Given the description of an element on the screen output the (x, y) to click on. 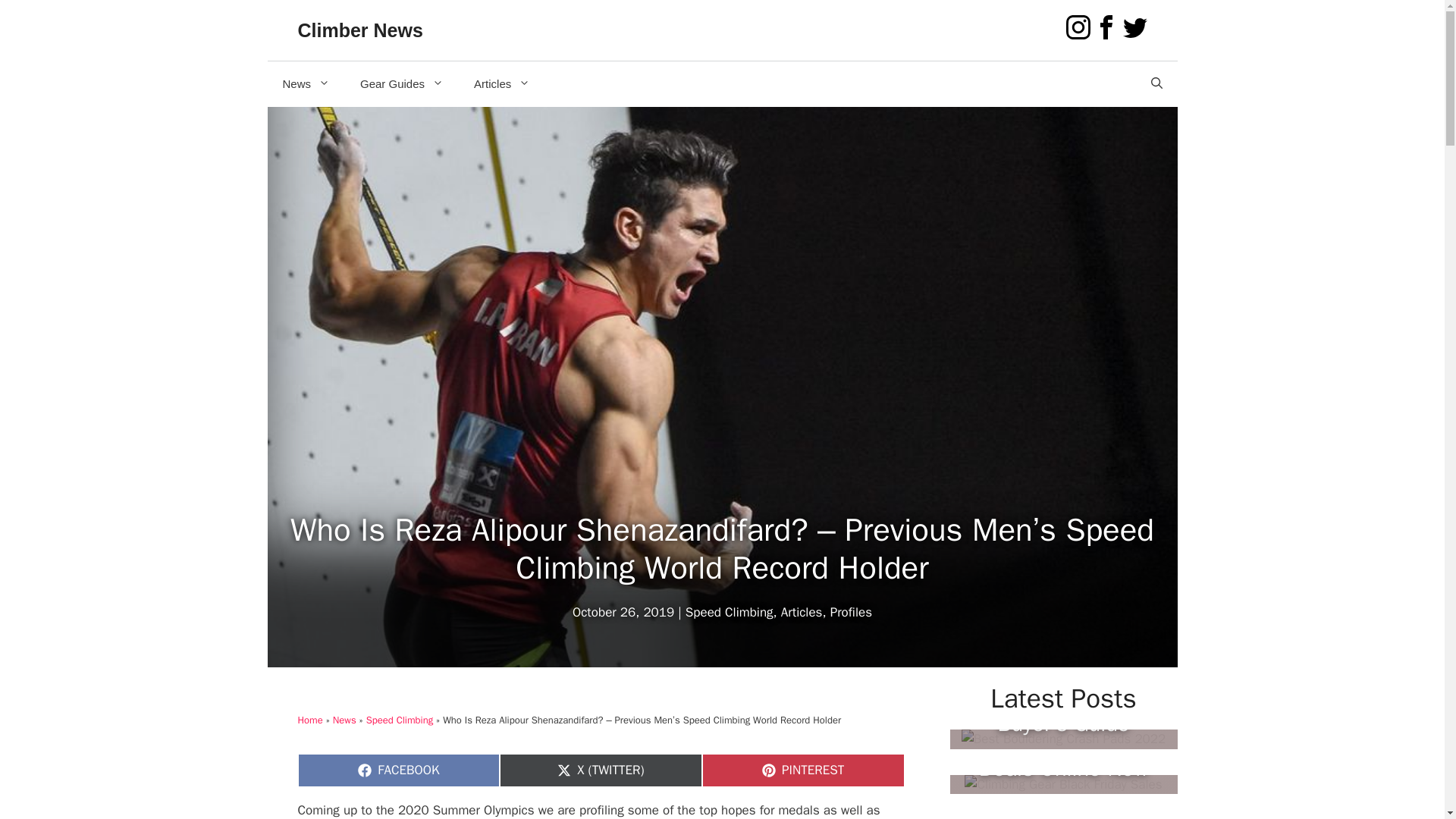
instagram (1077, 27)
facebook (1106, 27)
Articles (501, 83)
Climber News (359, 29)
Gear Guides (401, 83)
twitter (1134, 27)
News (305, 83)
